Given the description of an element on the screen output the (x, y) to click on. 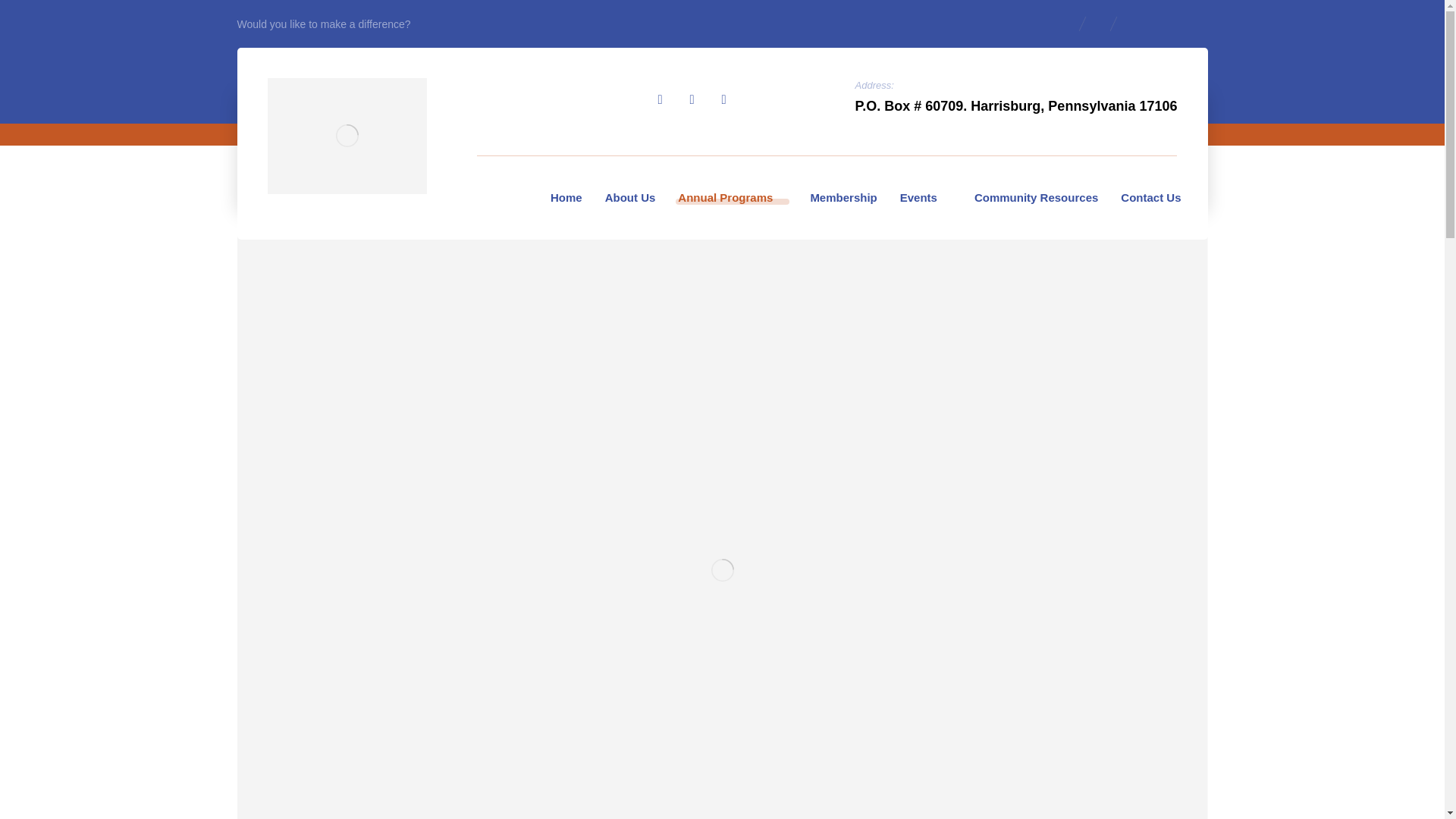
Membership (843, 197)
Annual Programs (732, 197)
EUP Anual Programs (1070, 123)
Community Resources (1036, 197)
Contact Us (1150, 197)
Events (925, 197)
About Us (630, 197)
Services (968, 123)
